Given the description of an element on the screen output the (x, y) to click on. 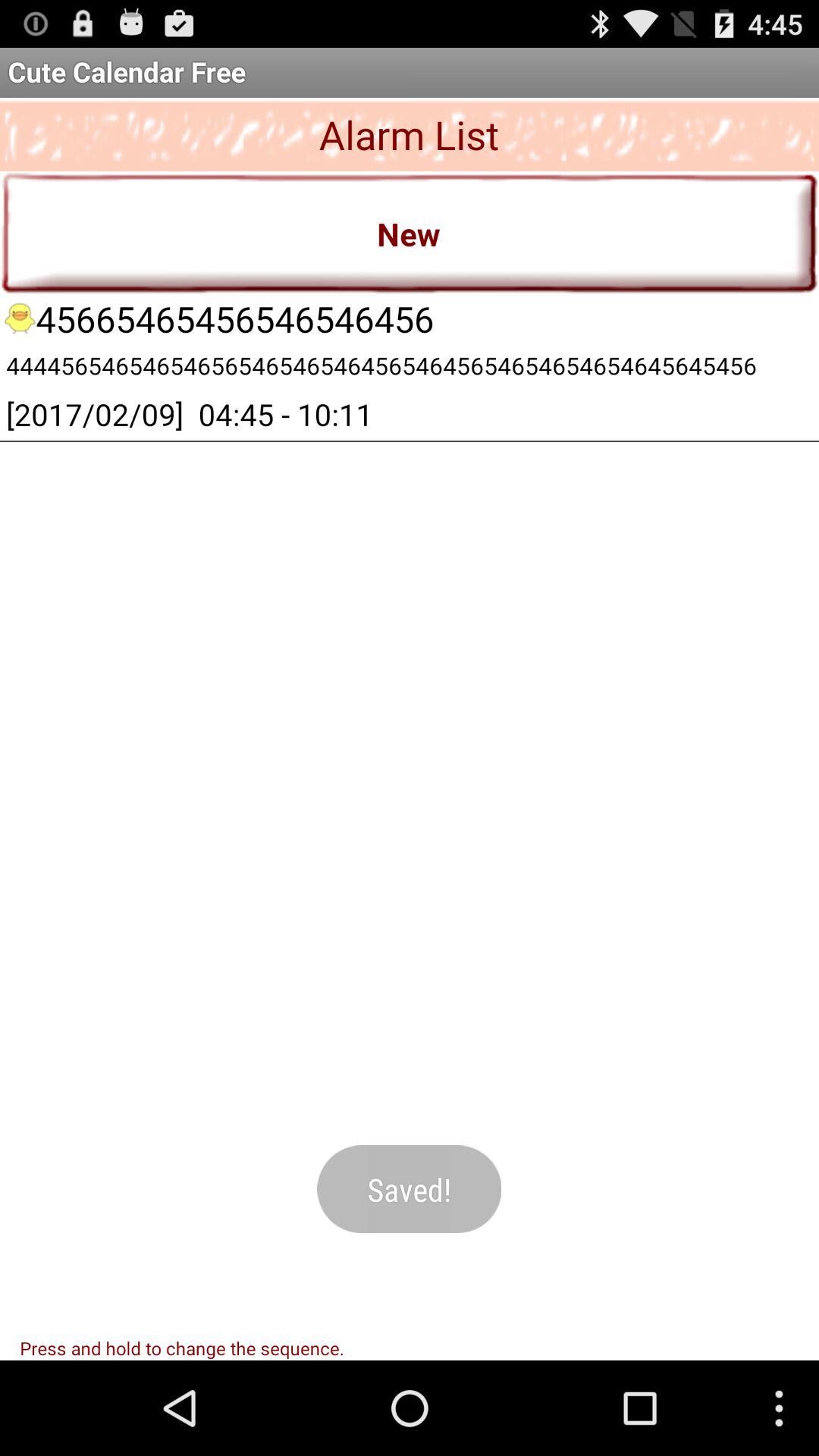
scroll to new (409, 232)
